Given the description of an element on the screen output the (x, y) to click on. 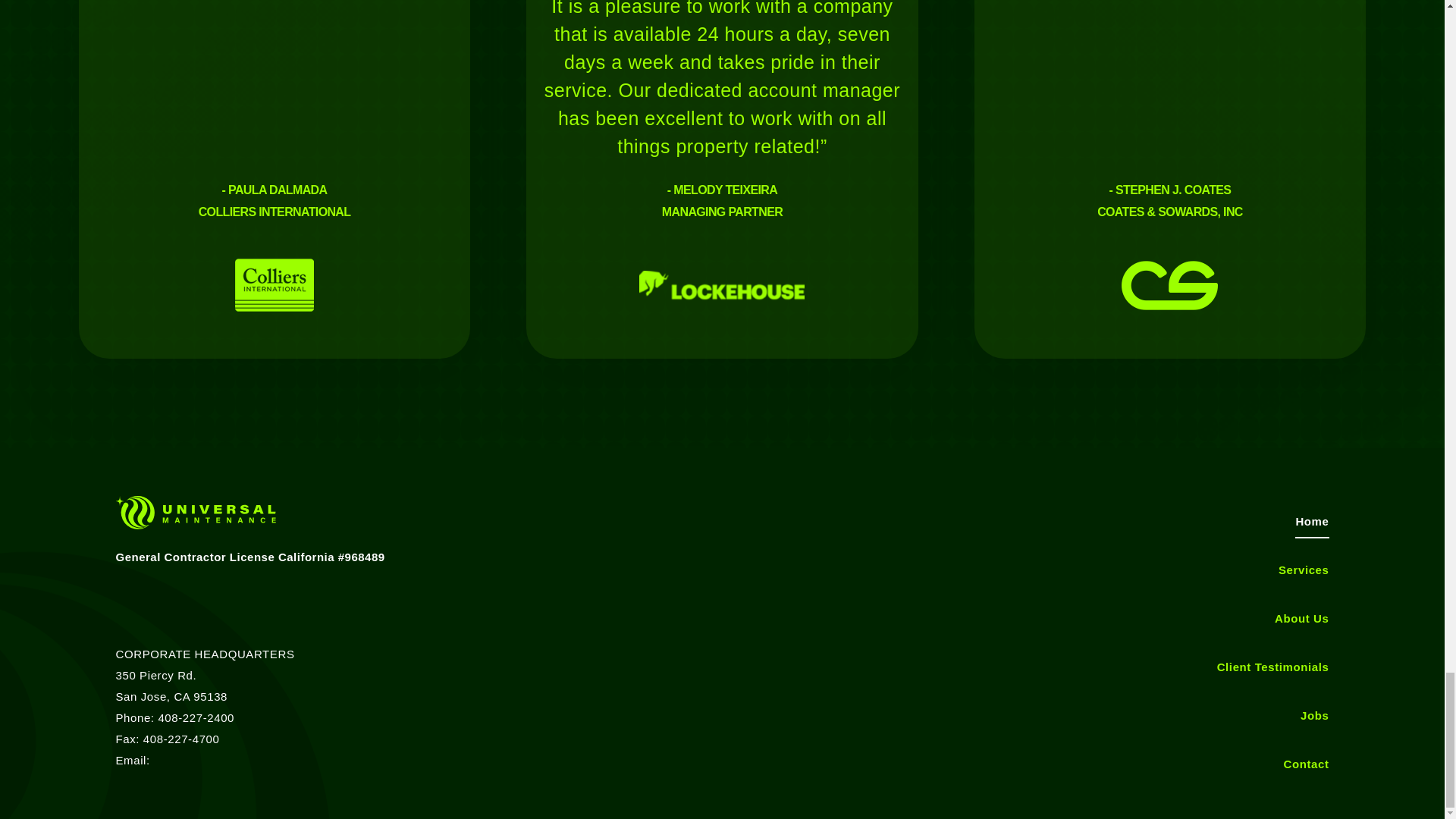
Home (1311, 521)
408-227-4700 (180, 738)
About Us (1301, 618)
Contact (1304, 764)
Jobs (1313, 715)
Services (1303, 570)
Client Testimonials (1273, 667)
408-227-2400 (195, 717)
